Given the description of an element on the screen output the (x, y) to click on. 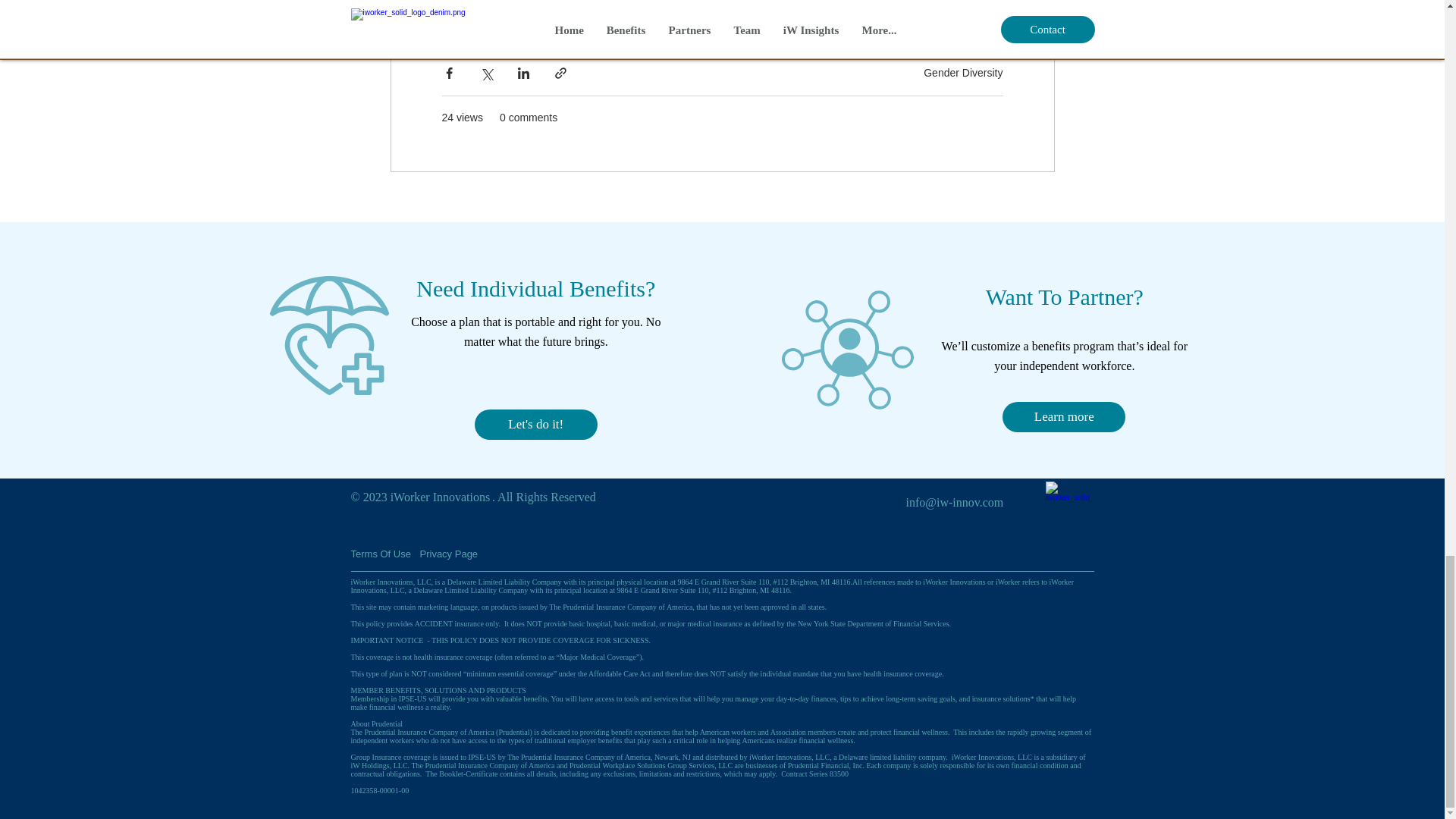
Let's do it! (535, 424)
Learn more (1064, 417)
Terms Of Use (381, 554)
Gender Diversity (963, 72)
IN THE NATION'S INTEREST (632, 4)
Privacy Page (455, 554)
